Given the description of an element on the screen output the (x, y) to click on. 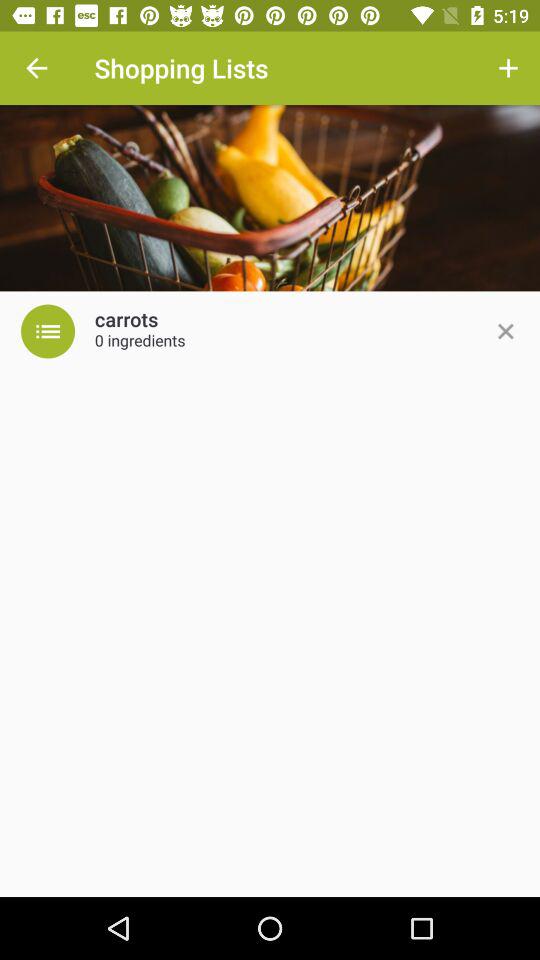
swipe to carrots (126, 319)
